Given the description of an element on the screen output the (x, y) to click on. 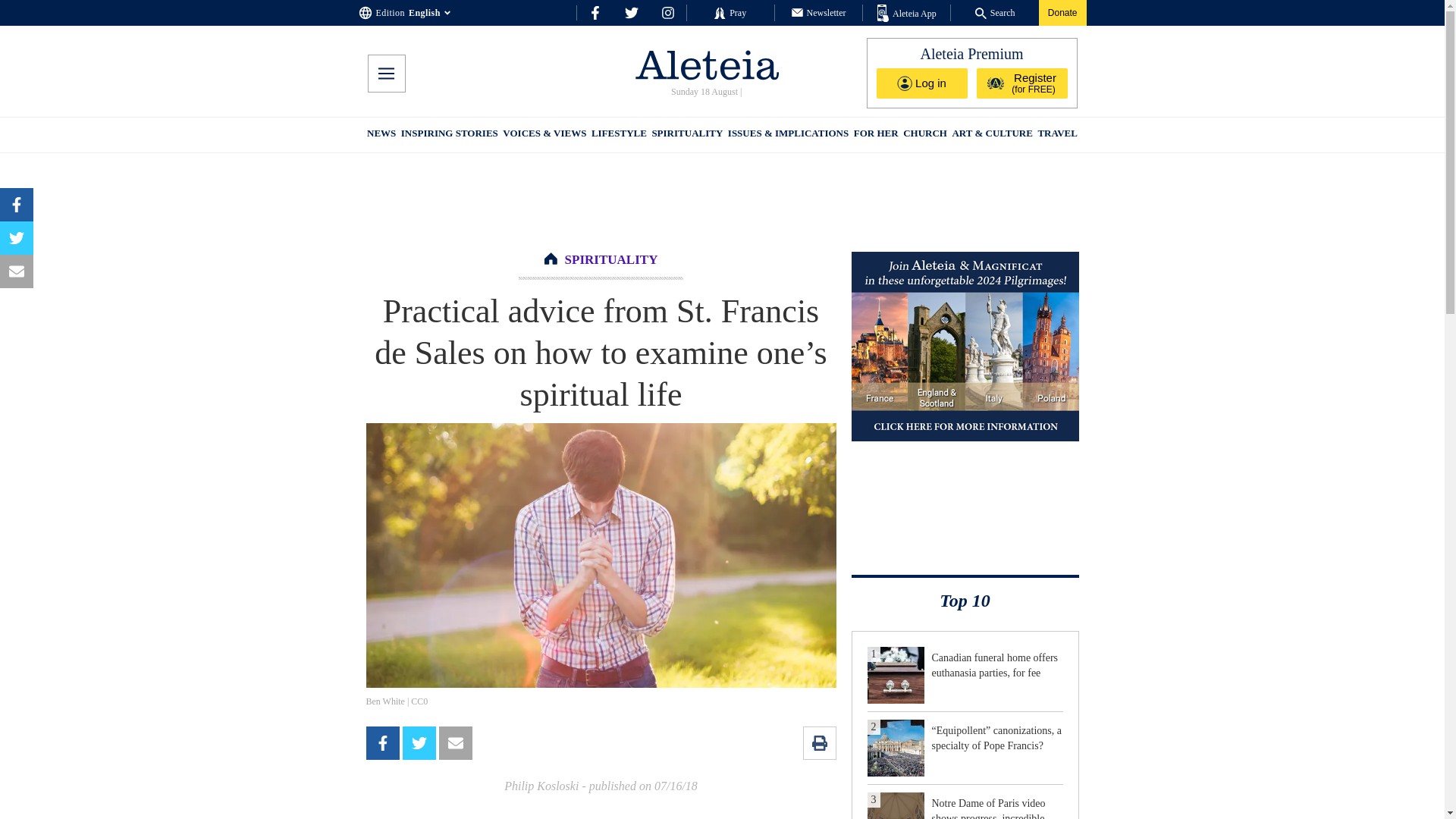
social-tw-top-row (631, 12)
Donate (1062, 12)
Search (994, 12)
social-fb-top-row (595, 12)
mobile-menu-btn (385, 73)
LIFESTYLE (618, 134)
SPIRITUALITY (611, 259)
SPIRITUALITY (686, 134)
FOR HER (875, 134)
CHURCH (924, 134)
